Given the description of an element on the screen output the (x, y) to click on. 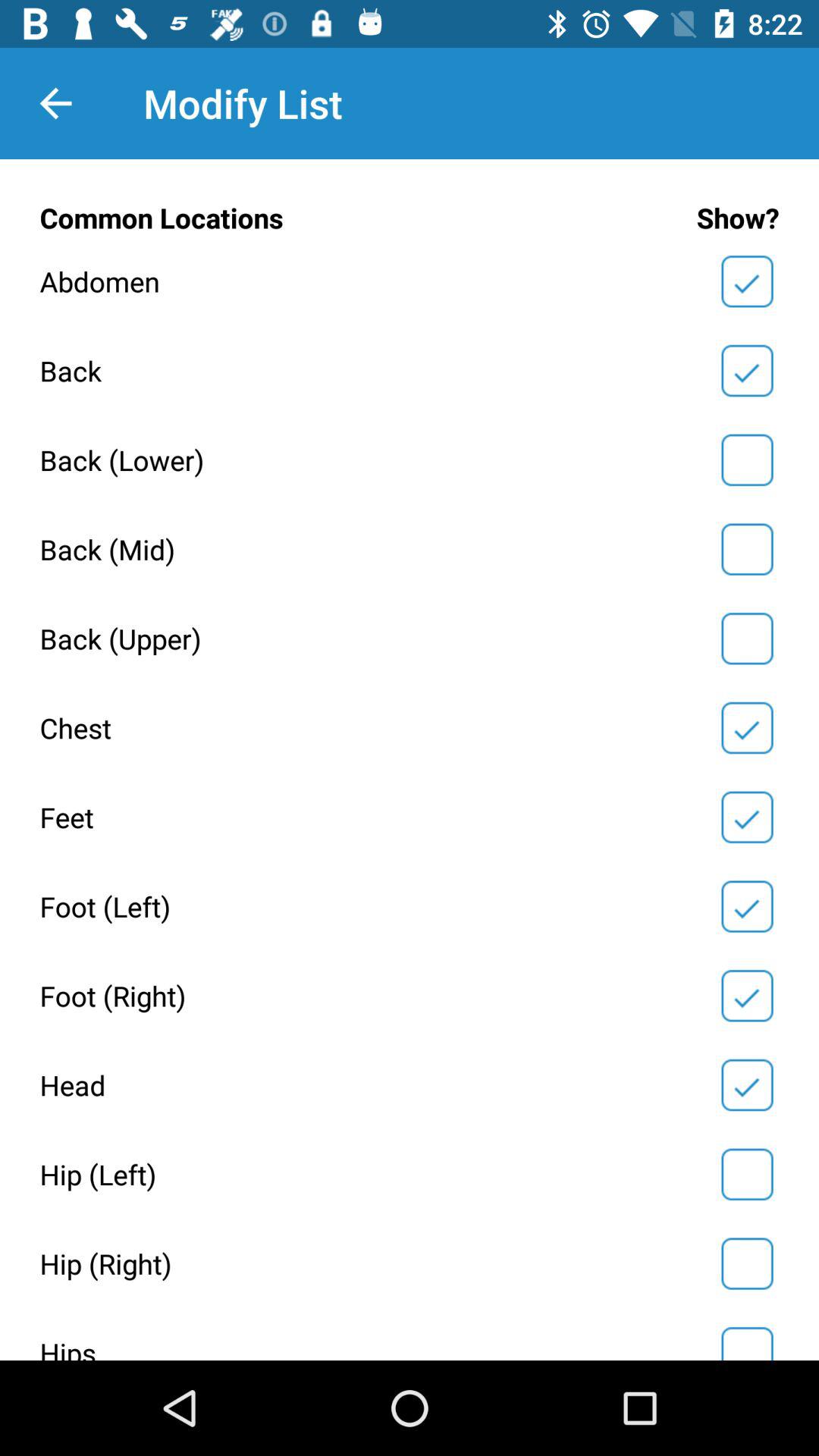
check or uncheck hip right (747, 1263)
